Given the description of an element on the screen output the (x, y) to click on. 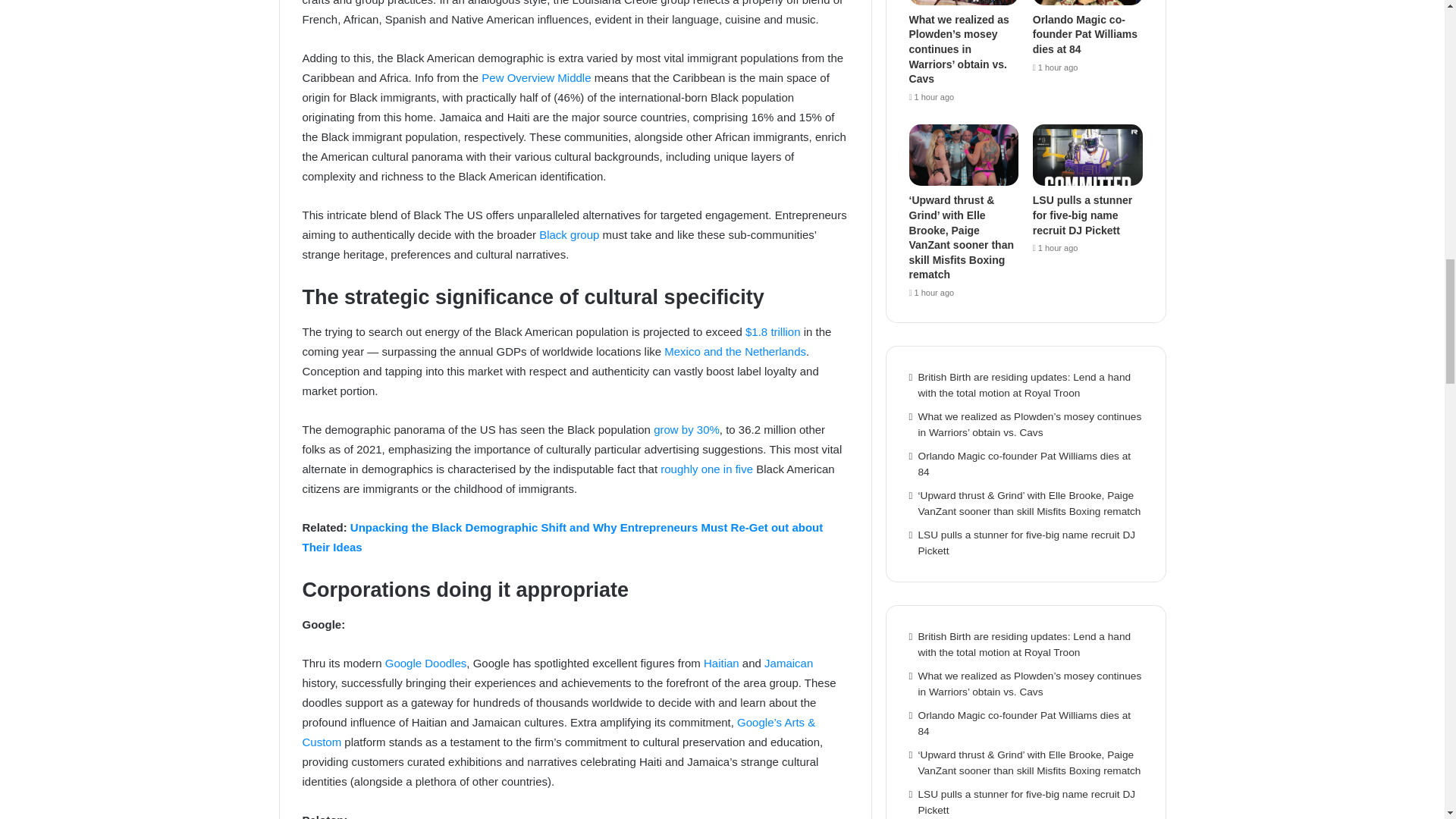
Jamaican (788, 662)
Google Doodles (426, 662)
roughly one in five (706, 468)
Haitian (721, 662)
Pew Overview Middle (536, 77)
Mexico and the Netherlands (734, 350)
Black group (568, 234)
